Given the description of an element on the screen output the (x, y) to click on. 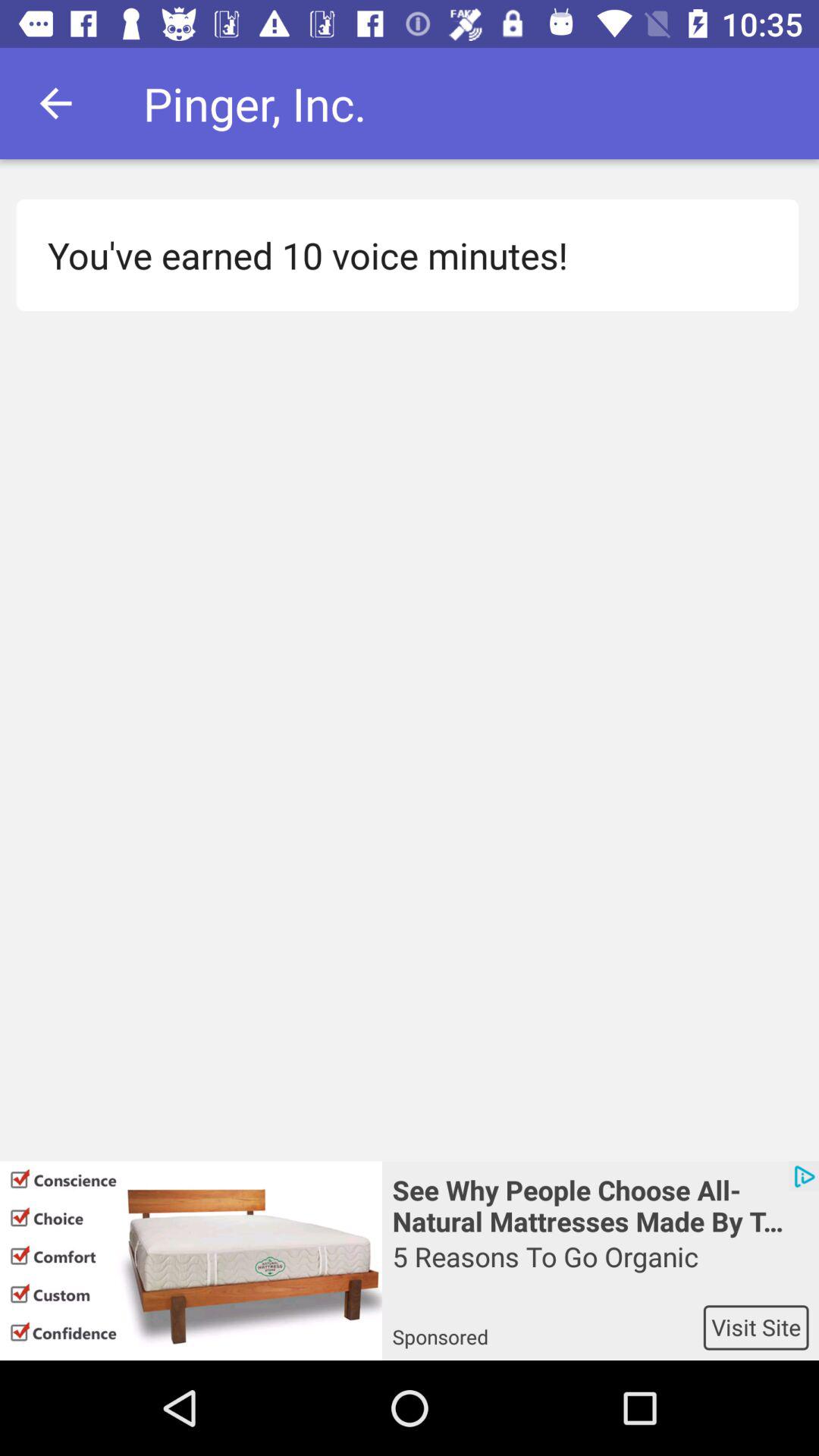
choose the 5 reasons to app (600, 1271)
